Given the description of an element on the screen output the (x, y) to click on. 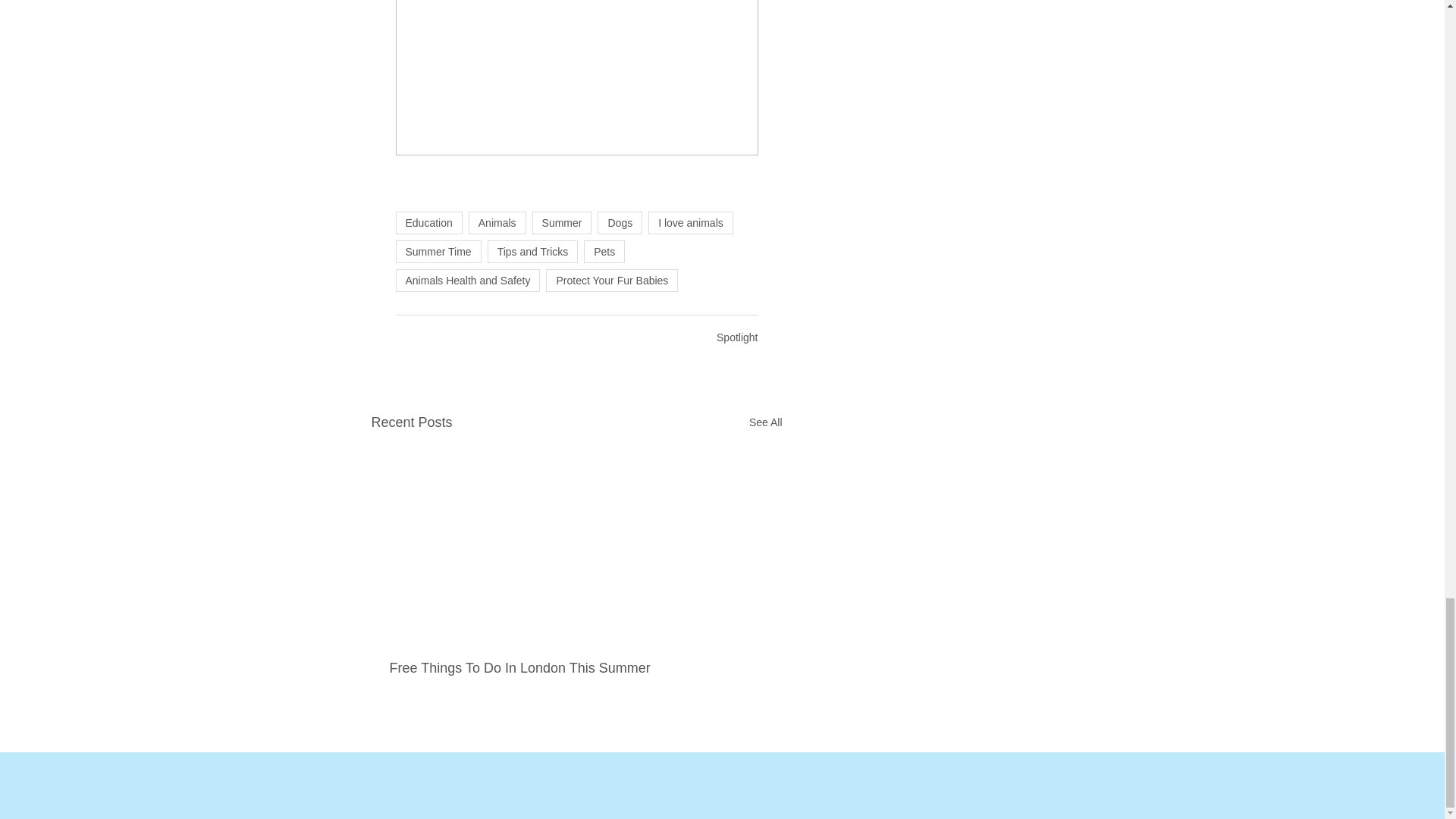
Dogs (619, 222)
See All (766, 422)
Summer (562, 222)
I love animals (690, 222)
Education (429, 222)
Protect Your Fur Babies (612, 280)
Animals Health and Safety (468, 280)
Tips and Tricks (532, 251)
Animals (496, 222)
Free Things To Do In London This Summer (543, 668)
